Given the description of an element on the screen output the (x, y) to click on. 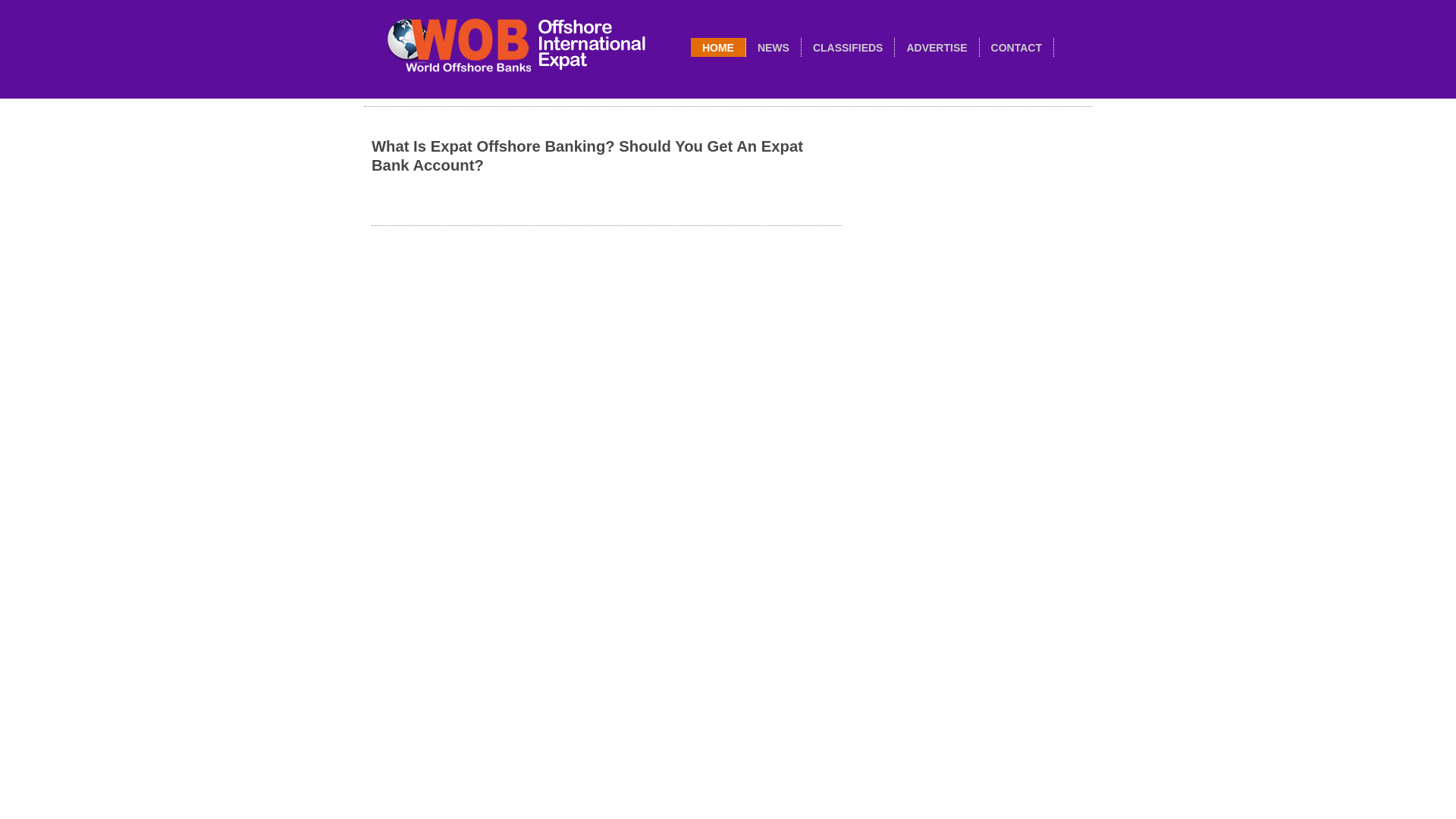
CLASSIFIEDS (848, 47)
CONTACT (1016, 47)
Contact us (1016, 47)
Offshore, International, banking classifieds (848, 47)
Wob home (717, 47)
Advertise with us (936, 47)
International, Offshore Banking and tax news (772, 47)
ADVERTISE (936, 47)
NEWS (772, 47)
HOME (717, 47)
